Given the description of an element on the screen output the (x, y) to click on. 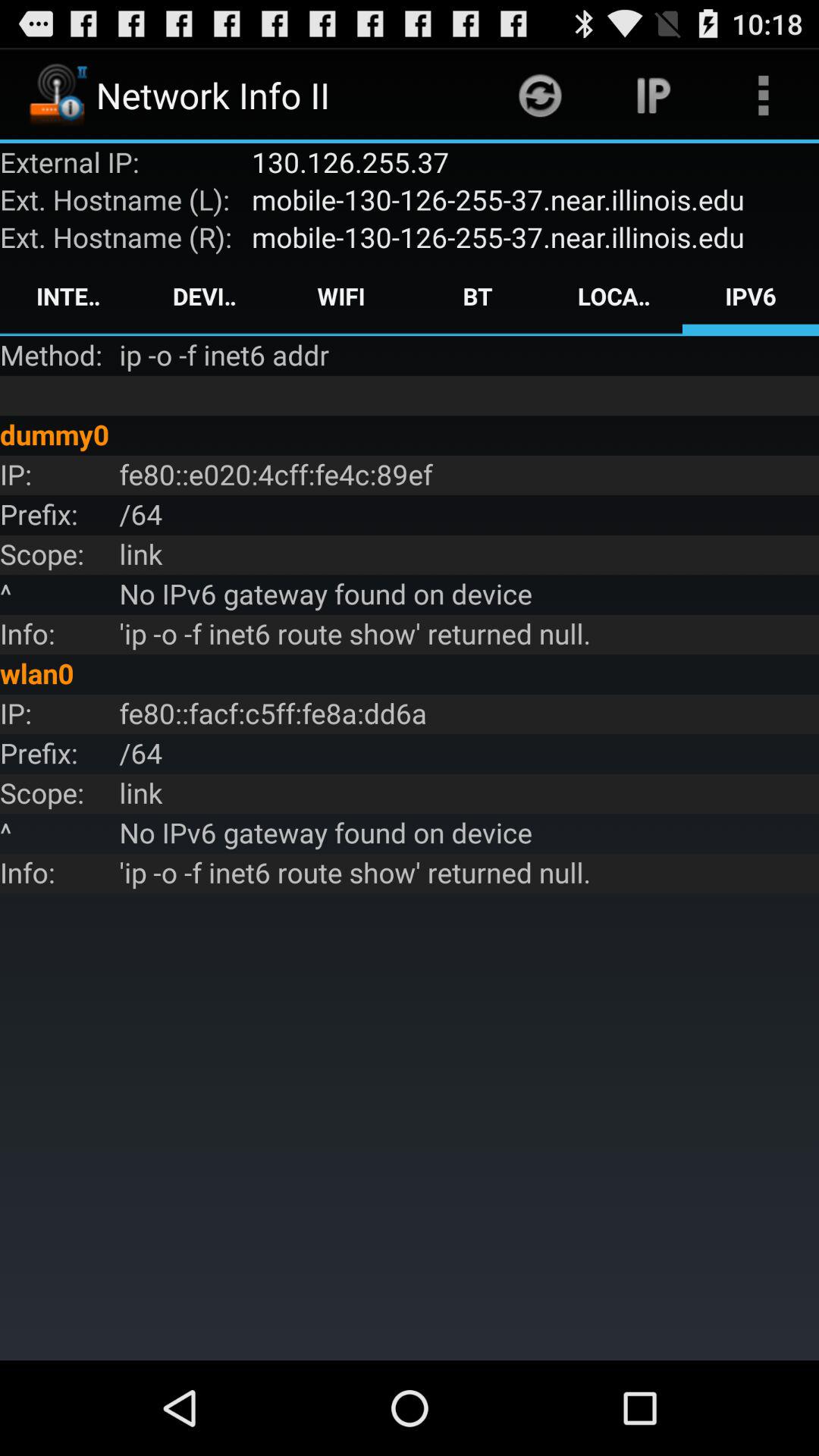
open icon next to location (477, 295)
